Given the description of an element on the screen output the (x, y) to click on. 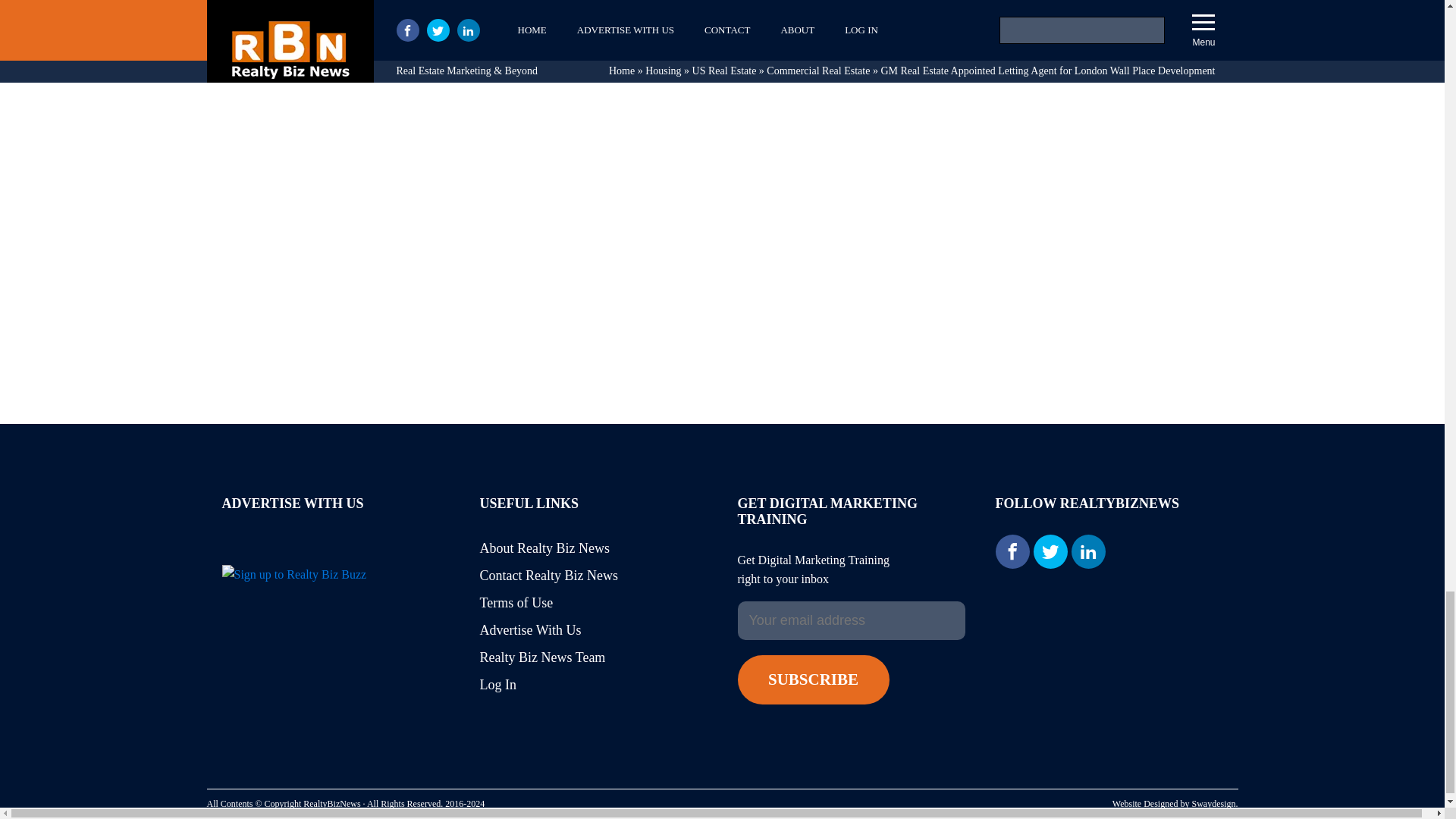
Subscribe (812, 679)
